Given the description of an element on the screen output the (x, y) to click on. 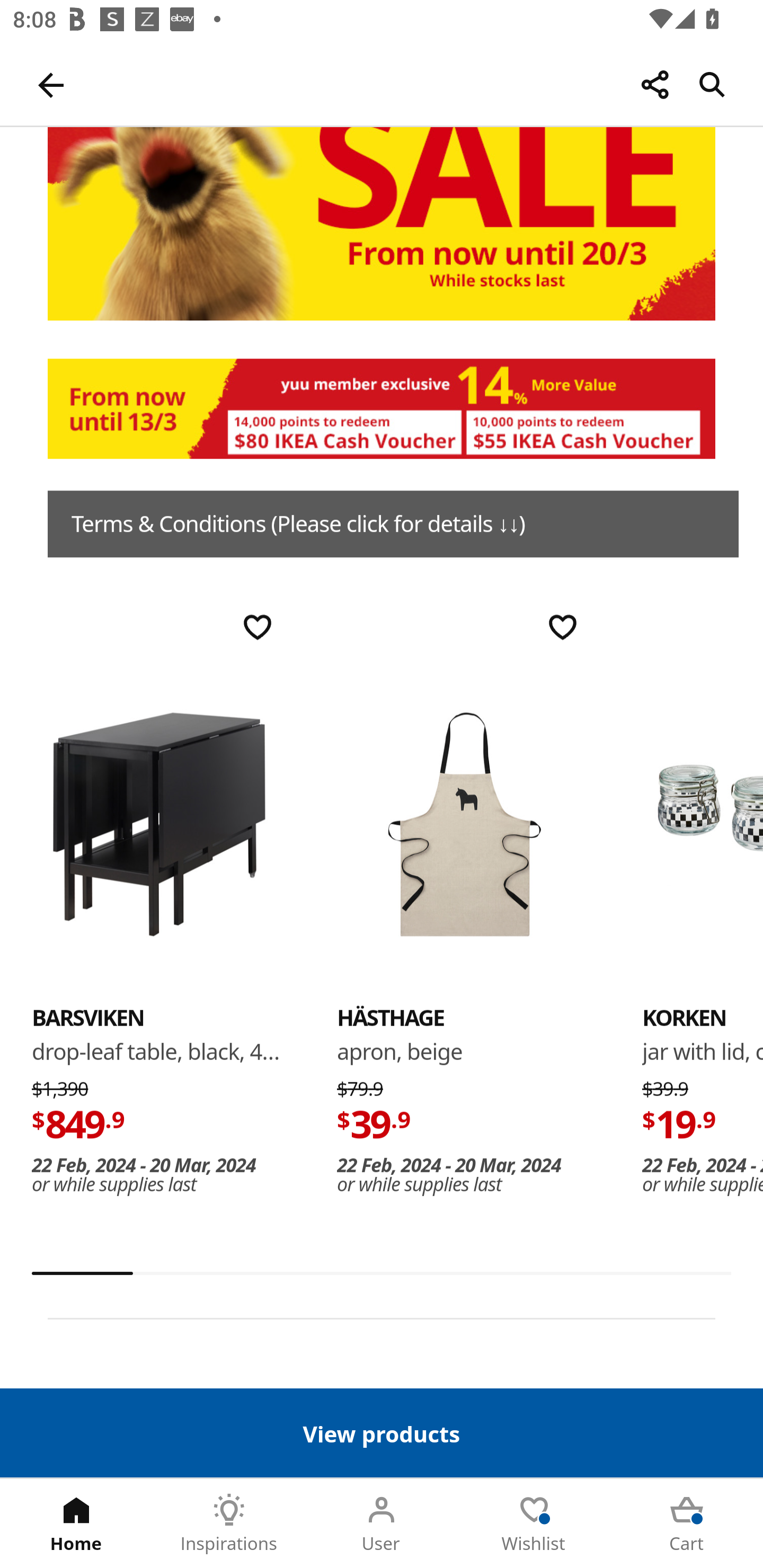
Terms & Conditions (Please click for details ↓↓) (393, 524)
BARSVIKEN (159, 823)
HÄSTHAGE (464, 823)
KORKEN (702, 823)
BARSVIKEN (88, 1017)
HÄSTHAGE (390, 1017)
KORKEN (684, 1017)
View products (381, 1432)
Home
Tab 1 of 5 (76, 1522)
Inspirations
Tab 2 of 5 (228, 1522)
User
Tab 3 of 5 (381, 1522)
Wishlist
Tab 4 of 5 (533, 1522)
Cart
Tab 5 of 5 (686, 1522)
